Given the description of an element on the screen output the (x, y) to click on. 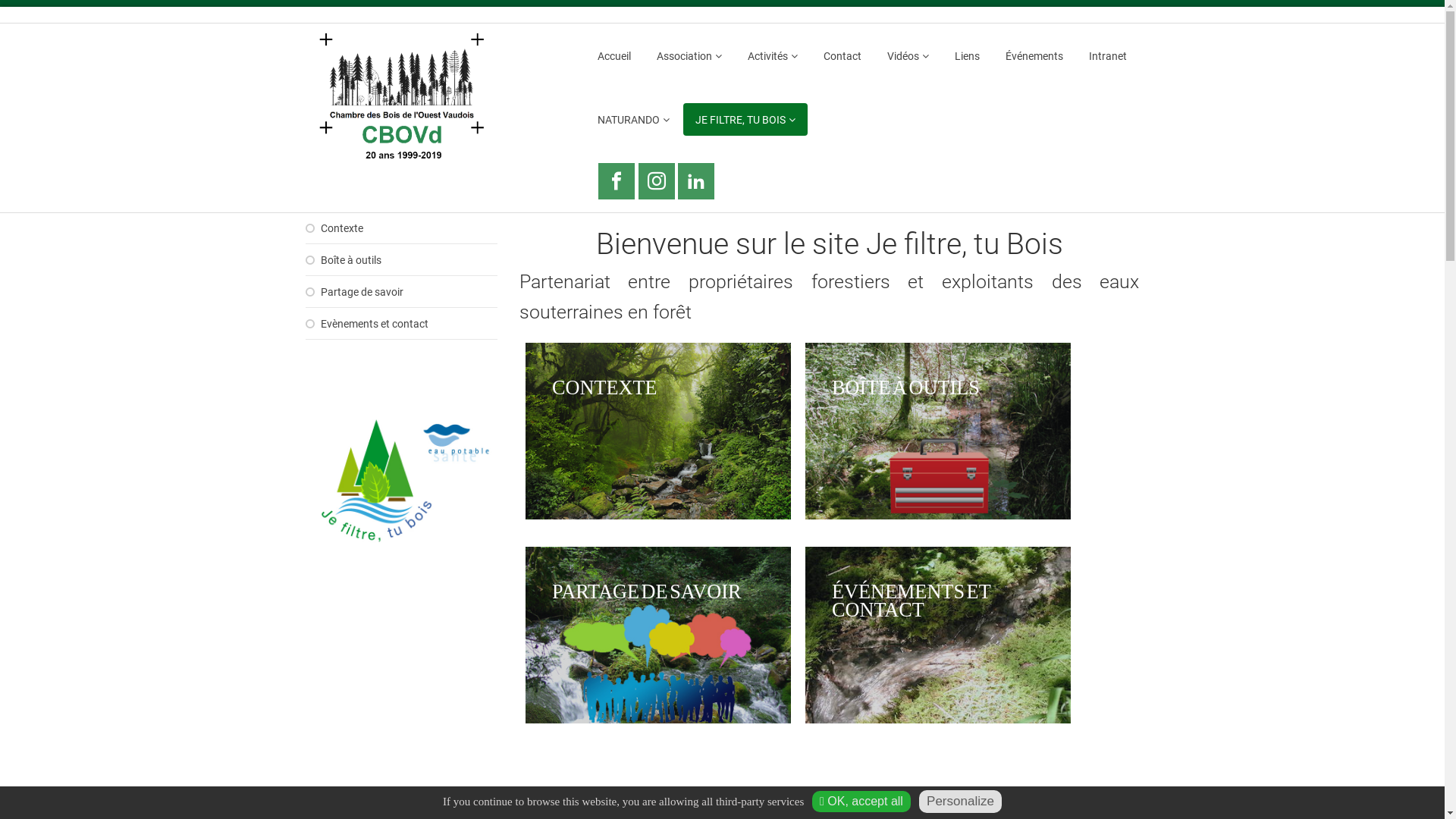
JE FILTRE, TU BOIS Element type: text (745, 119)
Liens Element type: text (966, 55)
Partage de savoir Element type: text (400, 291)
Personalize Element type: text (960, 801)
NATURANDO Element type: text (633, 119)
CONTEXTE Element type: text (658, 523)
Intranet Element type: text (1107, 55)
Association Element type: text (689, 55)
Contact Element type: text (842, 55)
Accueil Element type: text (614, 55)
PARTAGE DE SAVOIR Element type: text (658, 726)
Contexte Element type: text (400, 228)
